Given the description of an element on the screen output the (x, y) to click on. 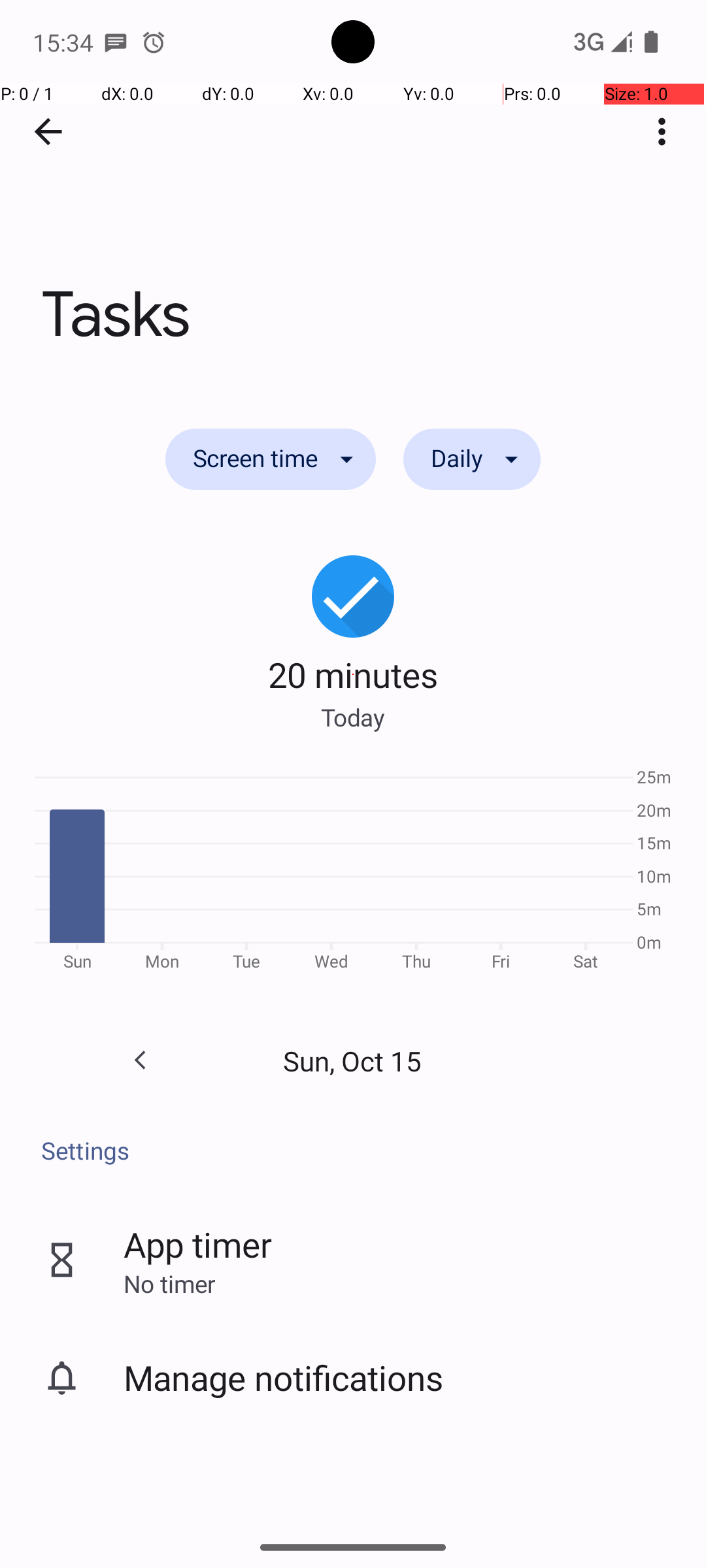
20 minutes Element type: android.widget.TextView (353, 674)
Bar Chart. Showing App usage data with 7 data points. Element type: android.view.ViewGroup (353, 873)
